Given the description of an element on the screen output the (x, y) to click on. 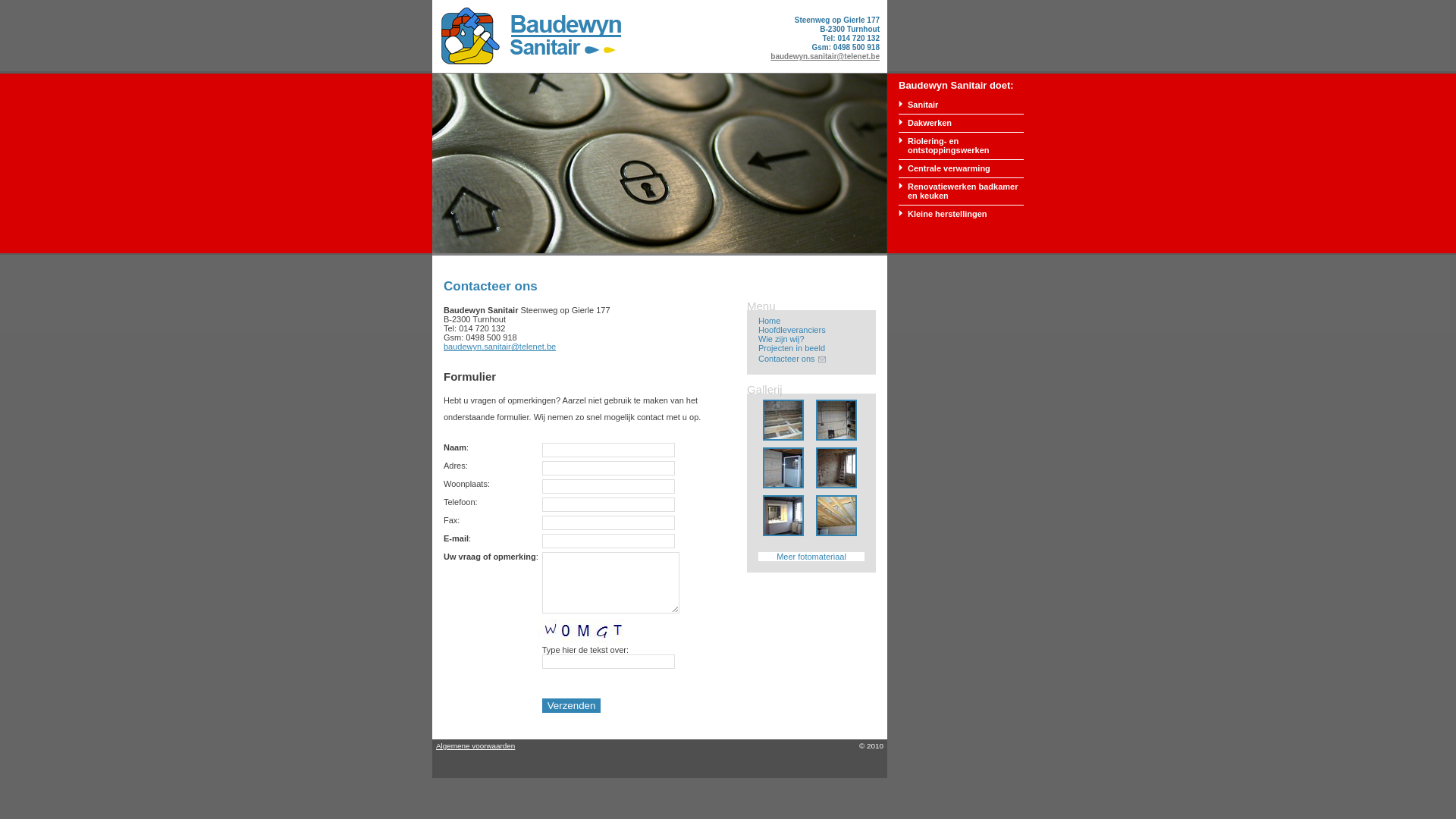
Contacteer ons Element type: text (786, 358)
Sanitair Element type: text (922, 104)
baudewyn.sanitair@telenet.be Element type: text (824, 56)
Projecten in beeld Element type: text (791, 347)
Algemene voorwaarden Element type: text (475, 745)
Hoofdleveranciers Element type: text (791, 329)
Centrale verwarming Element type: text (948, 167)
Wie zijn wij? Element type: text (781, 338)
Riolering- en ontstoppingswerken Element type: text (948, 145)
Renovatiewerken badkamer en keuken Element type: text (962, 191)
baudewyn.sanitair@telenet.be Element type: text (499, 346)
Home Element type: text (769, 320)
Meer fotomateriaal Element type: text (811, 556)
Dakwerken Element type: text (929, 122)
Kleine herstellingen Element type: text (947, 213)
Verzenden Element type: text (571, 705)
